Given the description of an element on the screen output the (x, y) to click on. 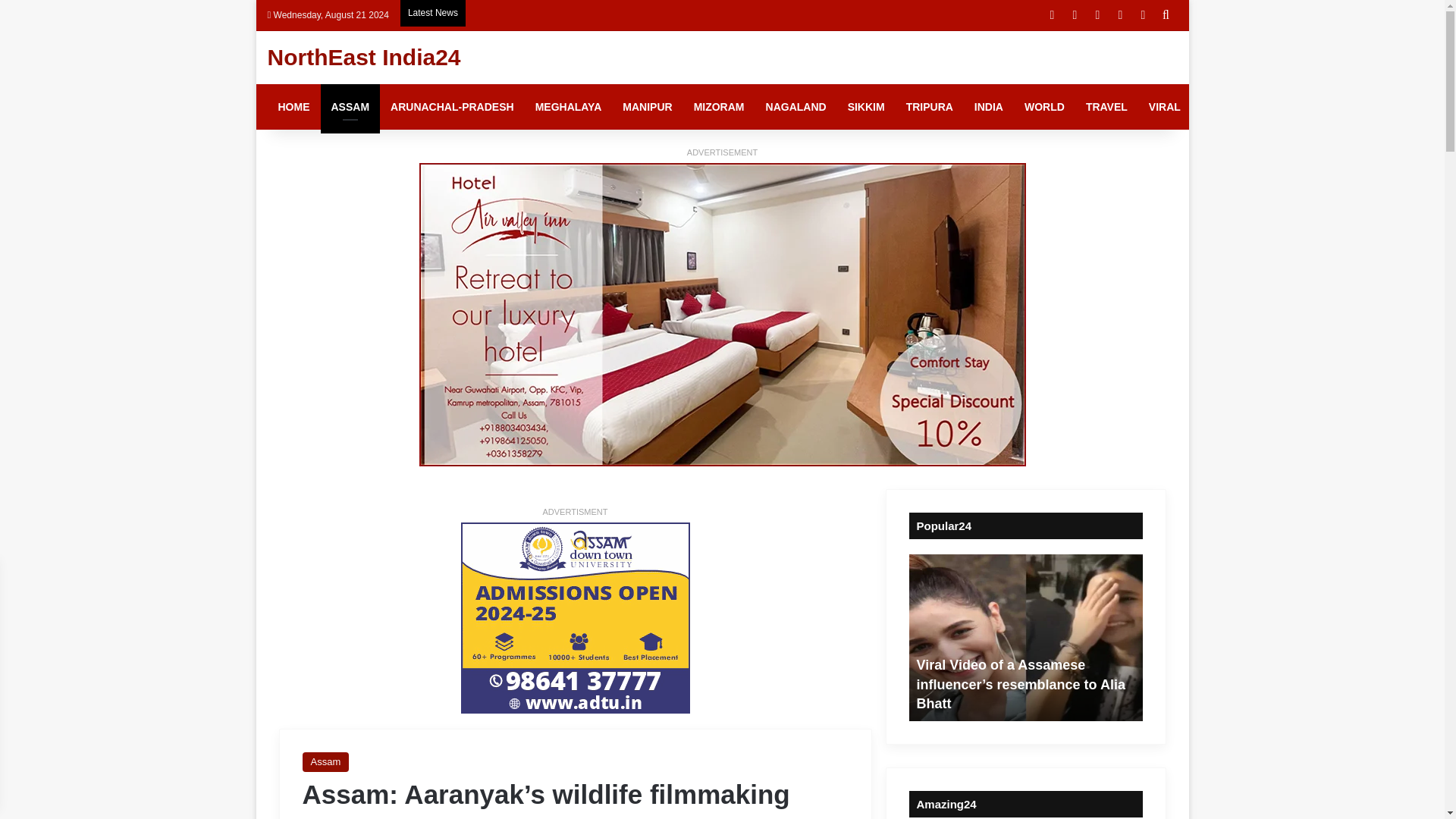
MIZORAM (718, 106)
MEGHALAYA (568, 106)
WORLD (1044, 106)
ADVERTISMENT  (575, 512)
ARUNACHAL-PRADESH (452, 106)
INDIA (988, 106)
VIRAL (1164, 106)
NorthEast India24 (363, 57)
ASSAM (350, 106)
NAGALAND (796, 106)
